Given the description of an element on the screen output the (x, y) to click on. 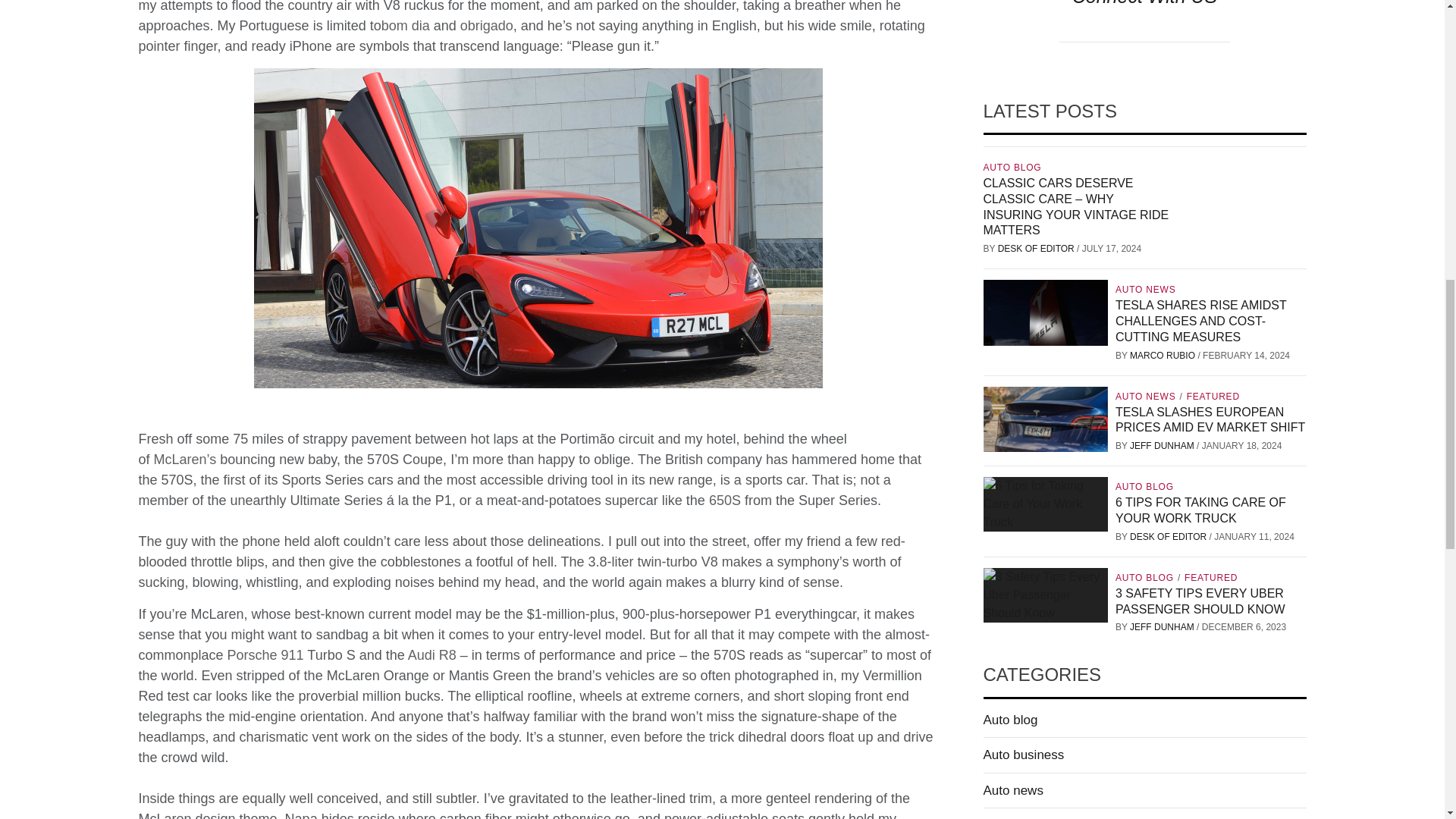
AUTO BLOG (1013, 166)
MARCO RUBIO (1162, 355)
AUTO NEWS (1147, 289)
Connect With US (1144, 3)
DESK OF EDITOR (1037, 248)
